Given the description of an element on the screen output the (x, y) to click on. 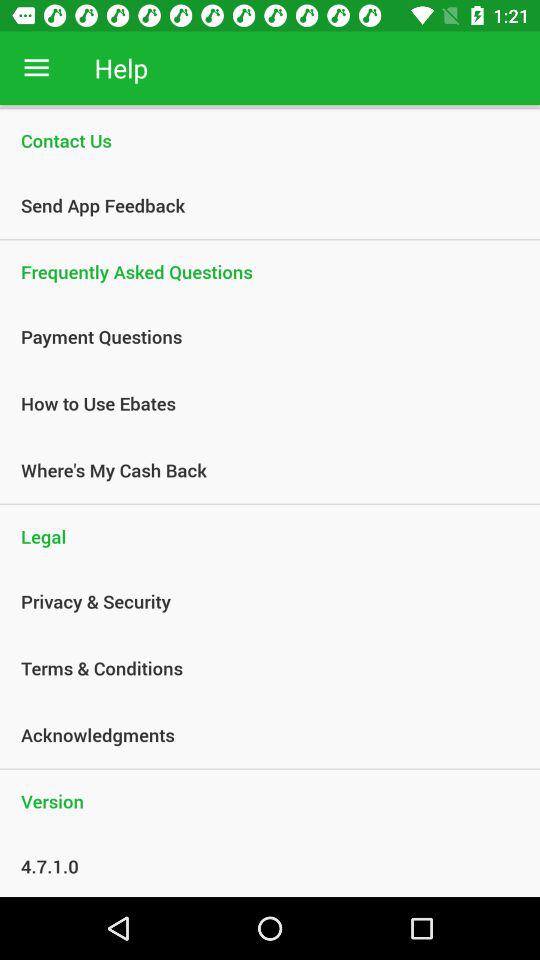
flip to where s my (259, 469)
